Given the description of an element on the screen output the (x, y) to click on. 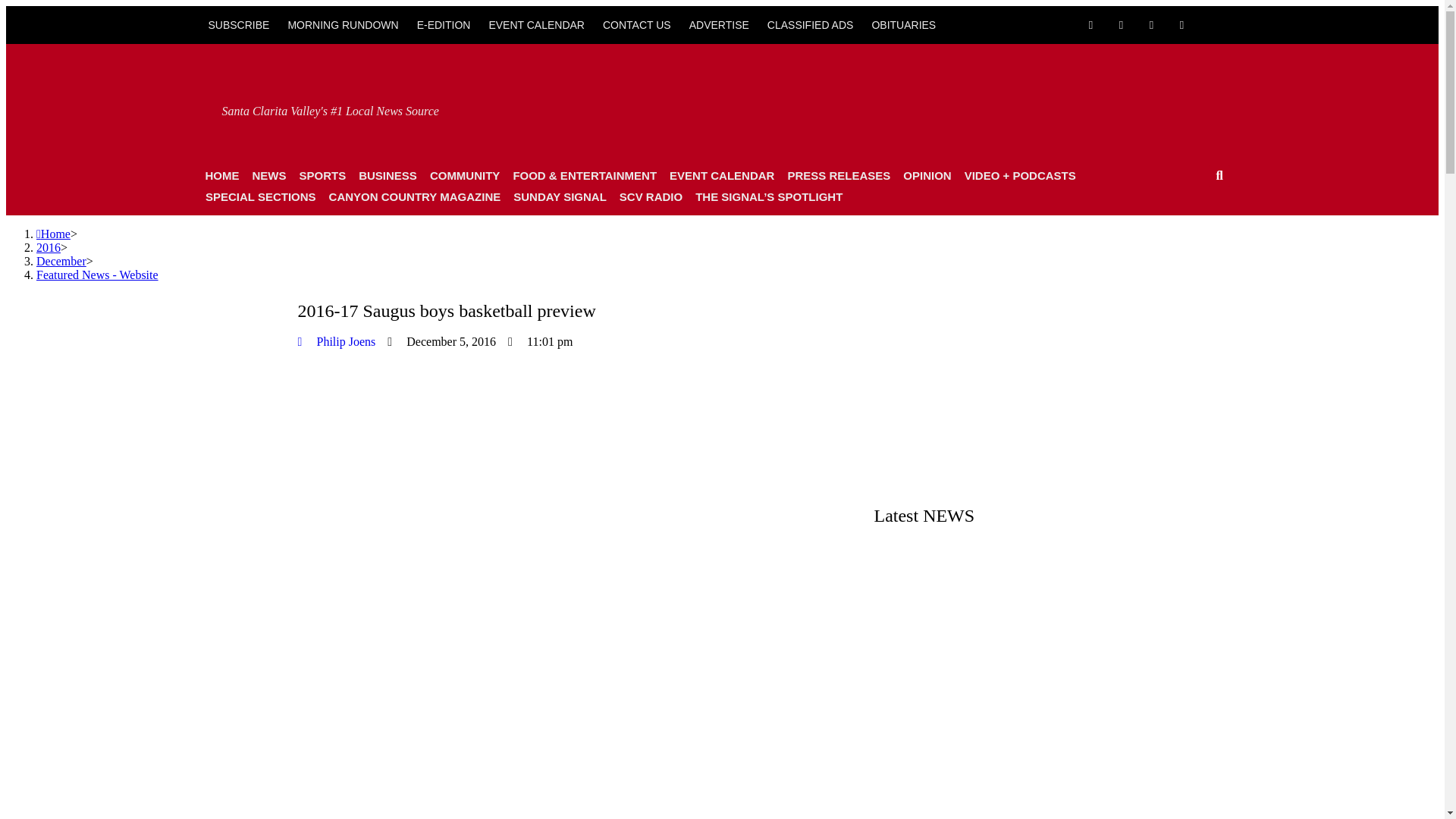
SPORTS (322, 175)
CONTACT US (636, 24)
CLASSIFIED ADS (810, 24)
NEWS (269, 175)
E-EDITION (443, 24)
EVENT CALENDAR (536, 24)
ADVERTISE (718, 24)
MORNING RUNDOWN (342, 24)
OBITUARIES (902, 24)
SUBSCRIBE (238, 24)
HOME (221, 175)
